Given the description of an element on the screen output the (x, y) to click on. 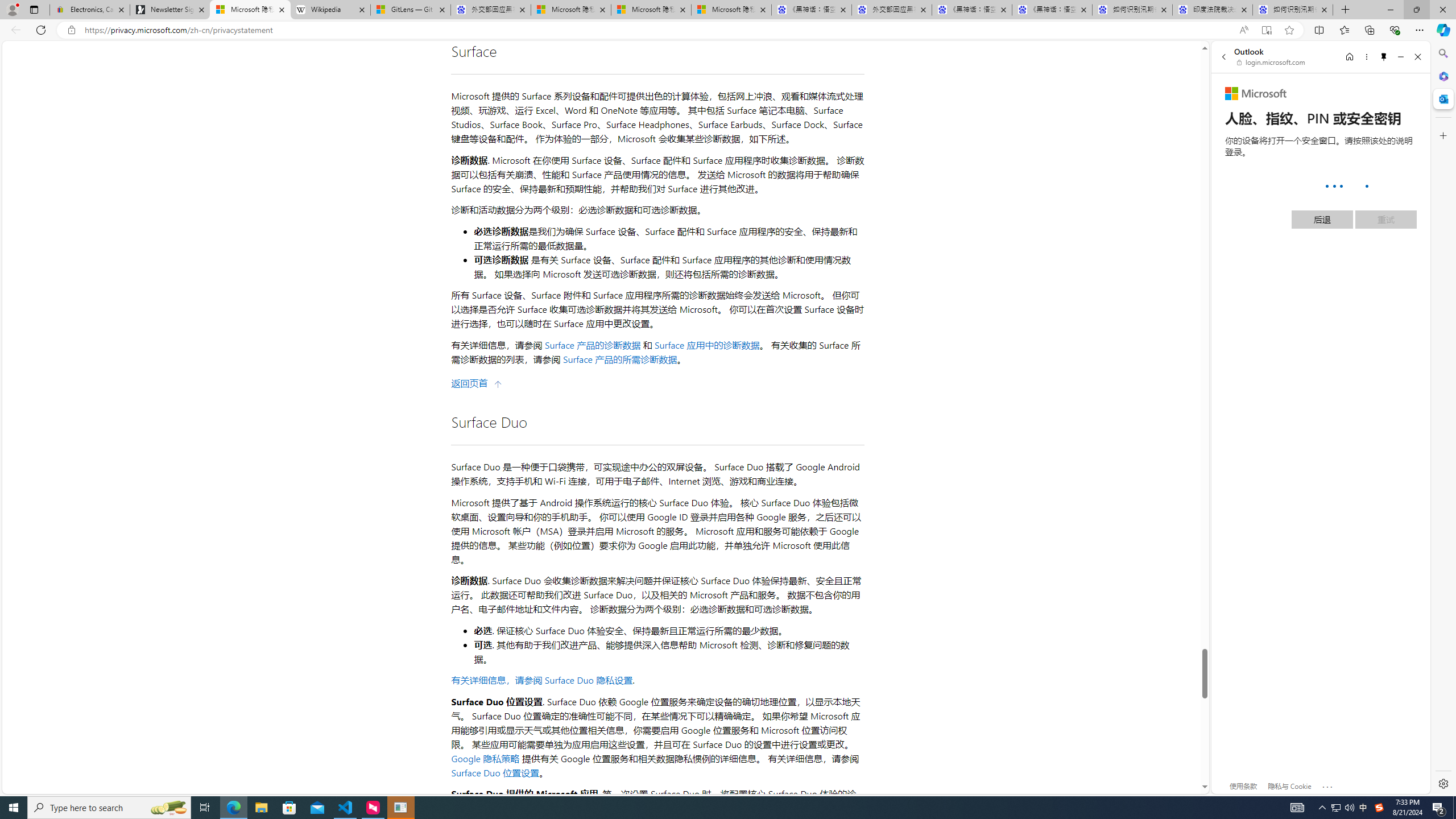
Wikipedia (330, 9)
